Given the description of an element on the screen output the (x, y) to click on. 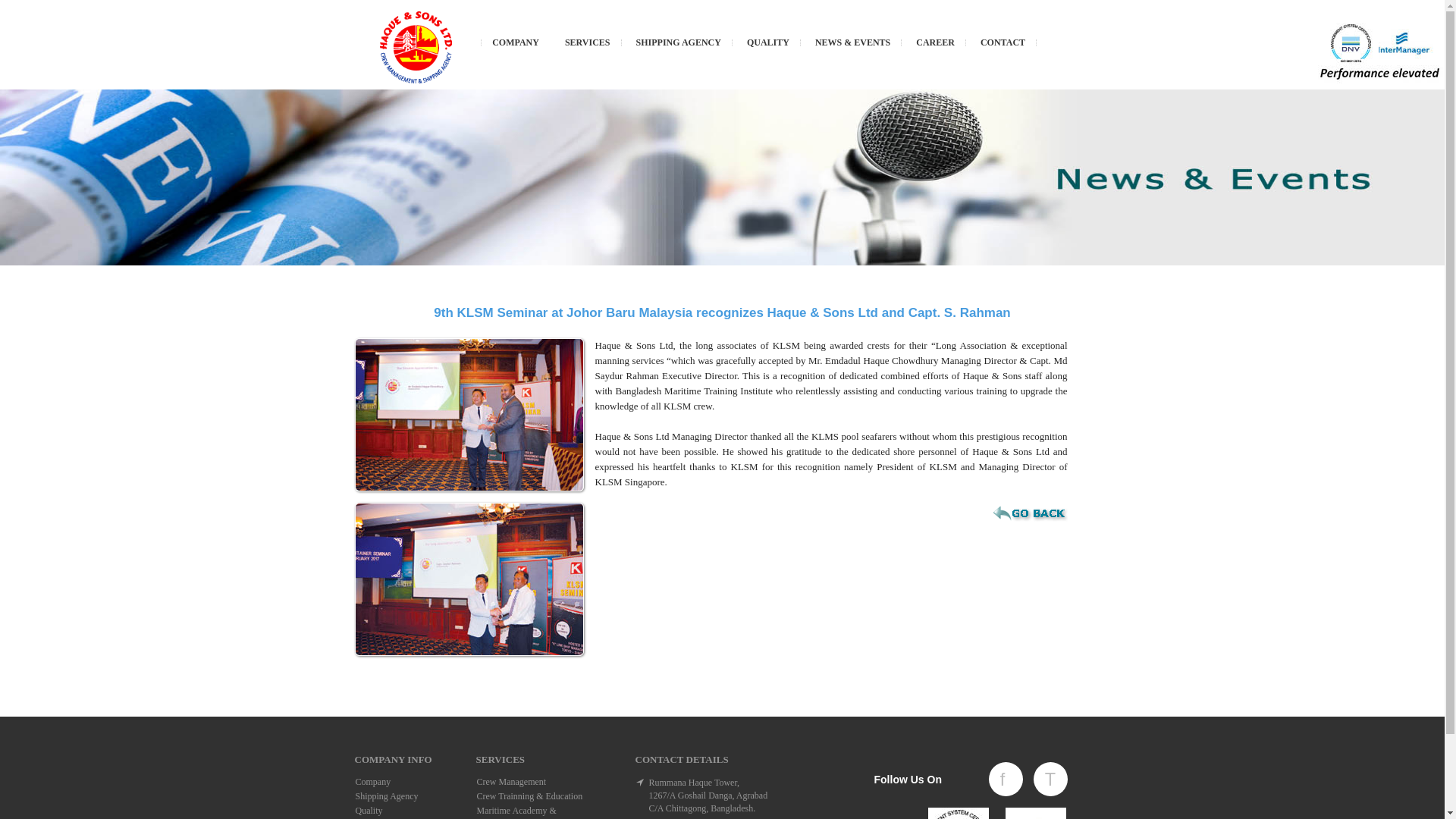
COMPANY (515, 47)
SERVICES (587, 47)
